Given the description of an element on the screen output the (x, y) to click on. 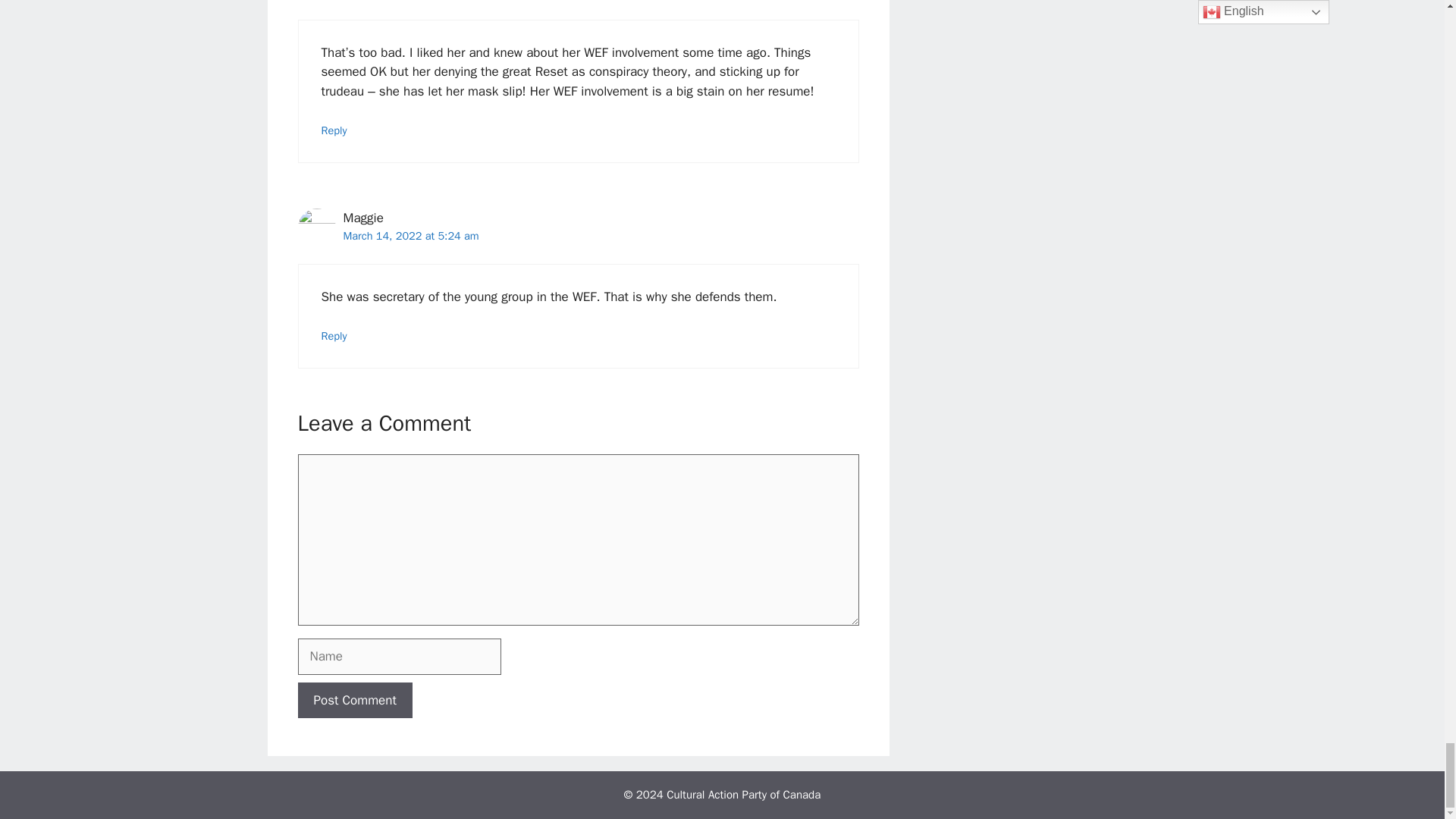
Post Comment (354, 700)
